Given the description of an element on the screen output the (x, y) to click on. 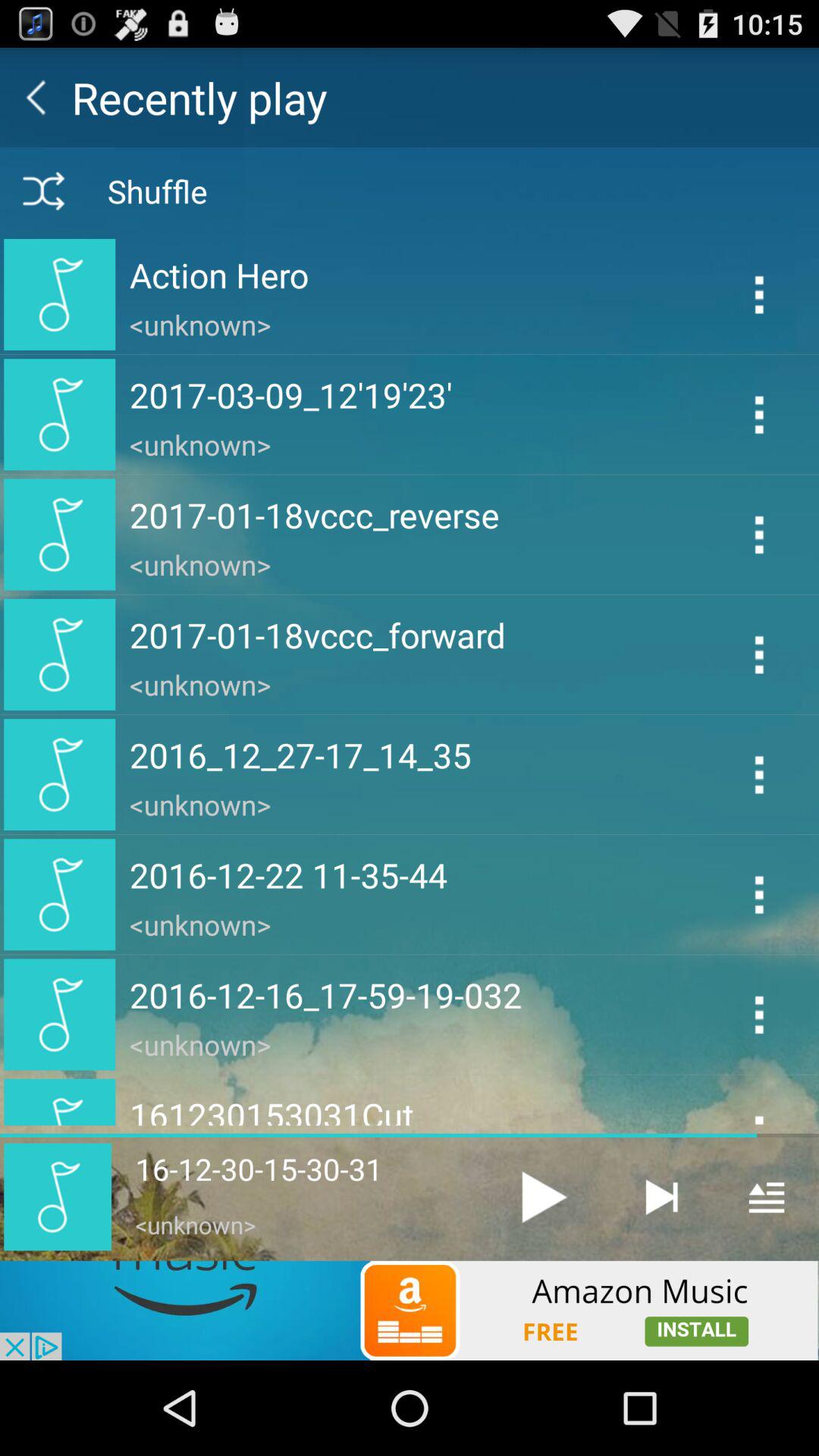
go back (35, 97)
